Given the description of an element on the screen output the (x, y) to click on. 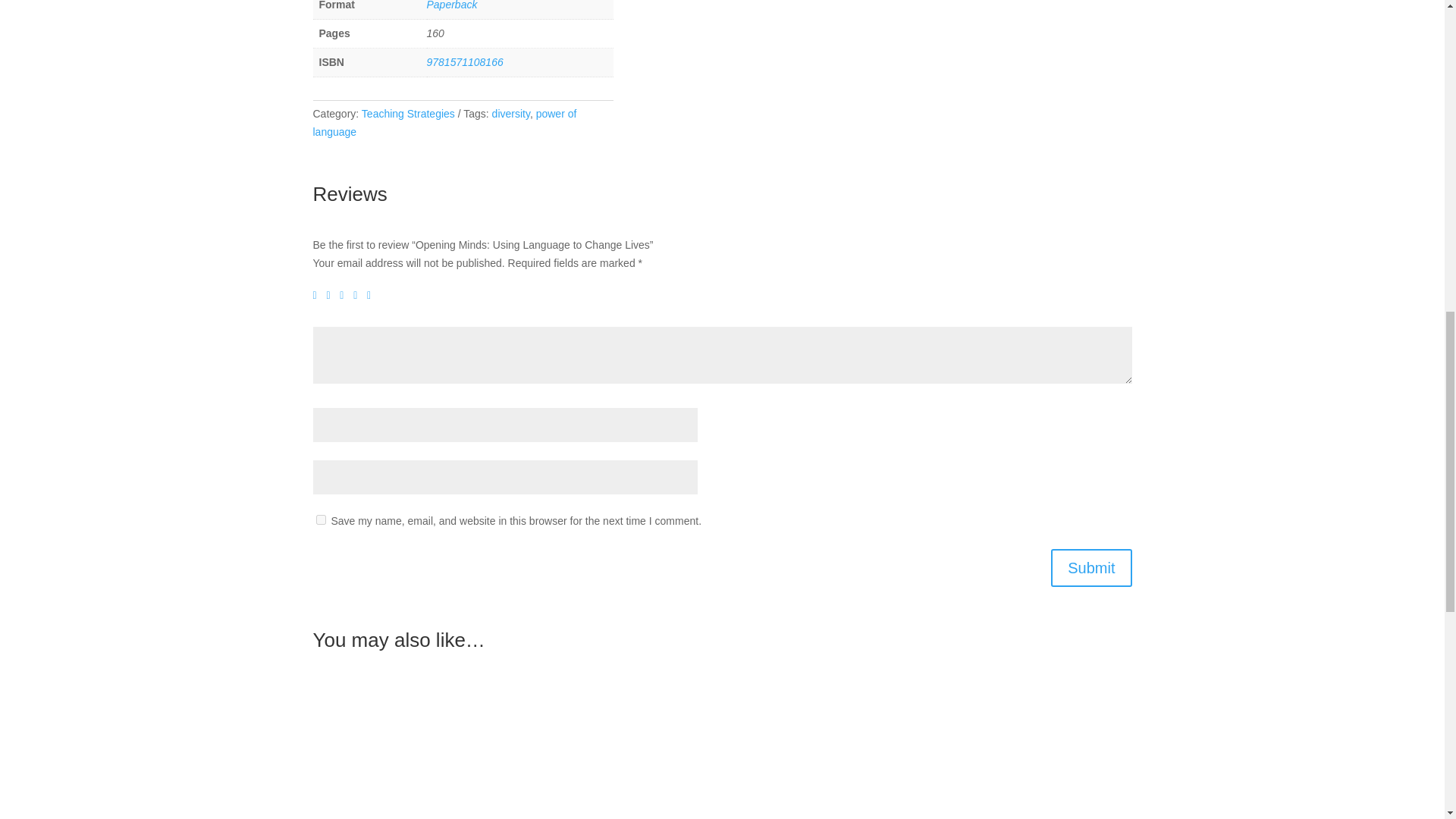
yes (319, 519)
